Given the description of an element on the screen output the (x, y) to click on. 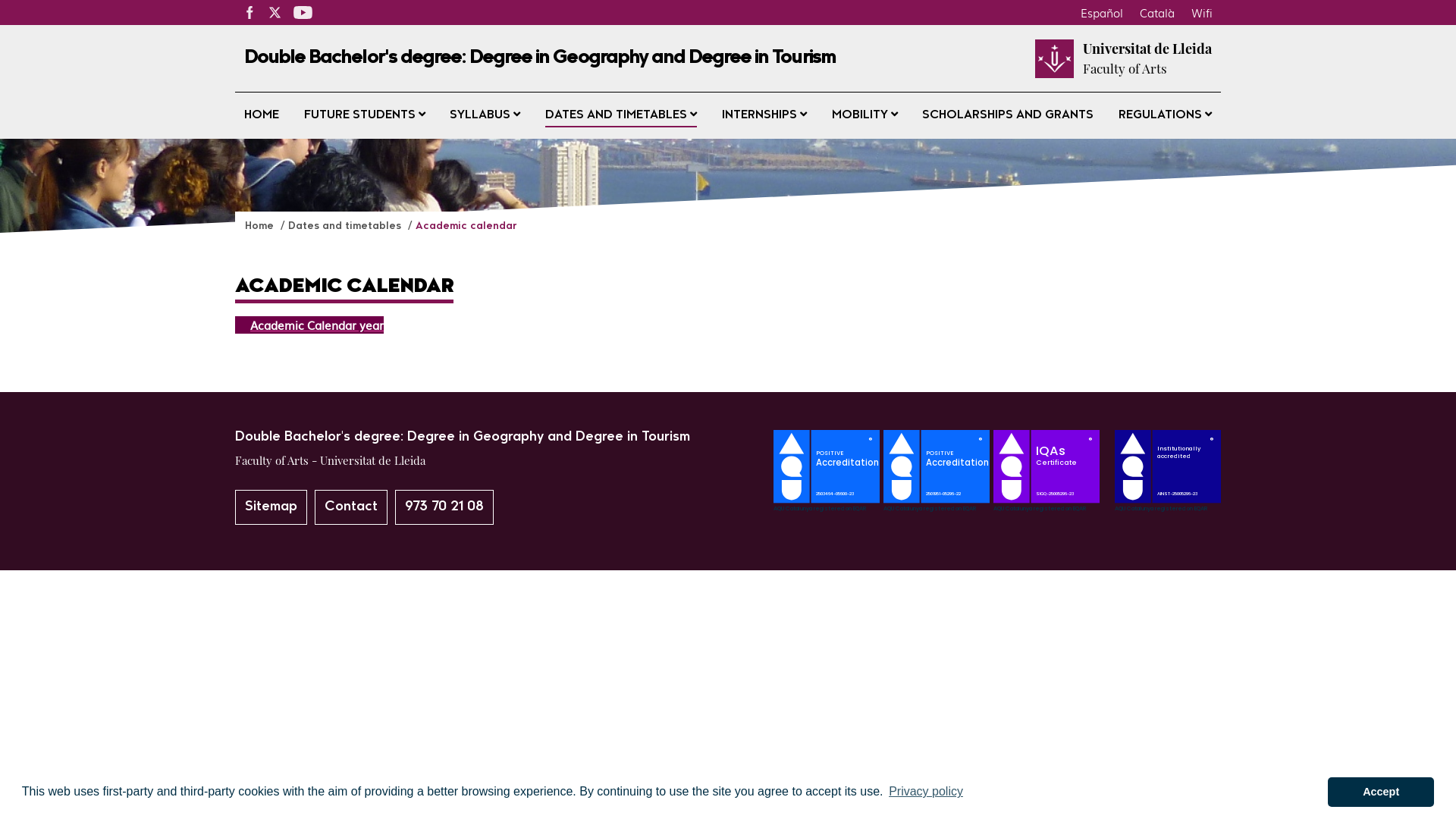
Home Element type: text (260, 226)
Academic Calendar year Element type: text (309, 324)
DATES AND TIMETABLES Element type: text (621, 115)
INTERNSHIPS Element type: text (763, 115)
Privacy policy Element type: text (925, 791)
Universitat de Lleida
Faculty of Arts Element type: text (1146, 58)
SegellAcreditacioAQU_GGeografia_en Element type: hover (828, 506)
MOBILITY Element type: text (864, 115)
Dates and timetables Element type: text (346, 226)
Academic calendar Element type: text (466, 226)
Contact Element type: text (350, 506)
Wifi Element type: text (1201, 12)
REGULATIONS Element type: text (1164, 115)
SYLLABUS Element type: text (484, 115)
Sitemap Element type: text (271, 506)
HOME Element type: text (261, 115)
FUTURE STUDENTS Element type: text (364, 115)
SegellAcreditacioAQU_GTurisme_en Element type: hover (938, 506)
973 70 21 08 Element type: text (444, 506)
SCHOLARSHIPS AND GRANTS Element type: text (1007, 115)
Accept Element type: text (1380, 791)
